Given the description of an element on the screen output the (x, y) to click on. 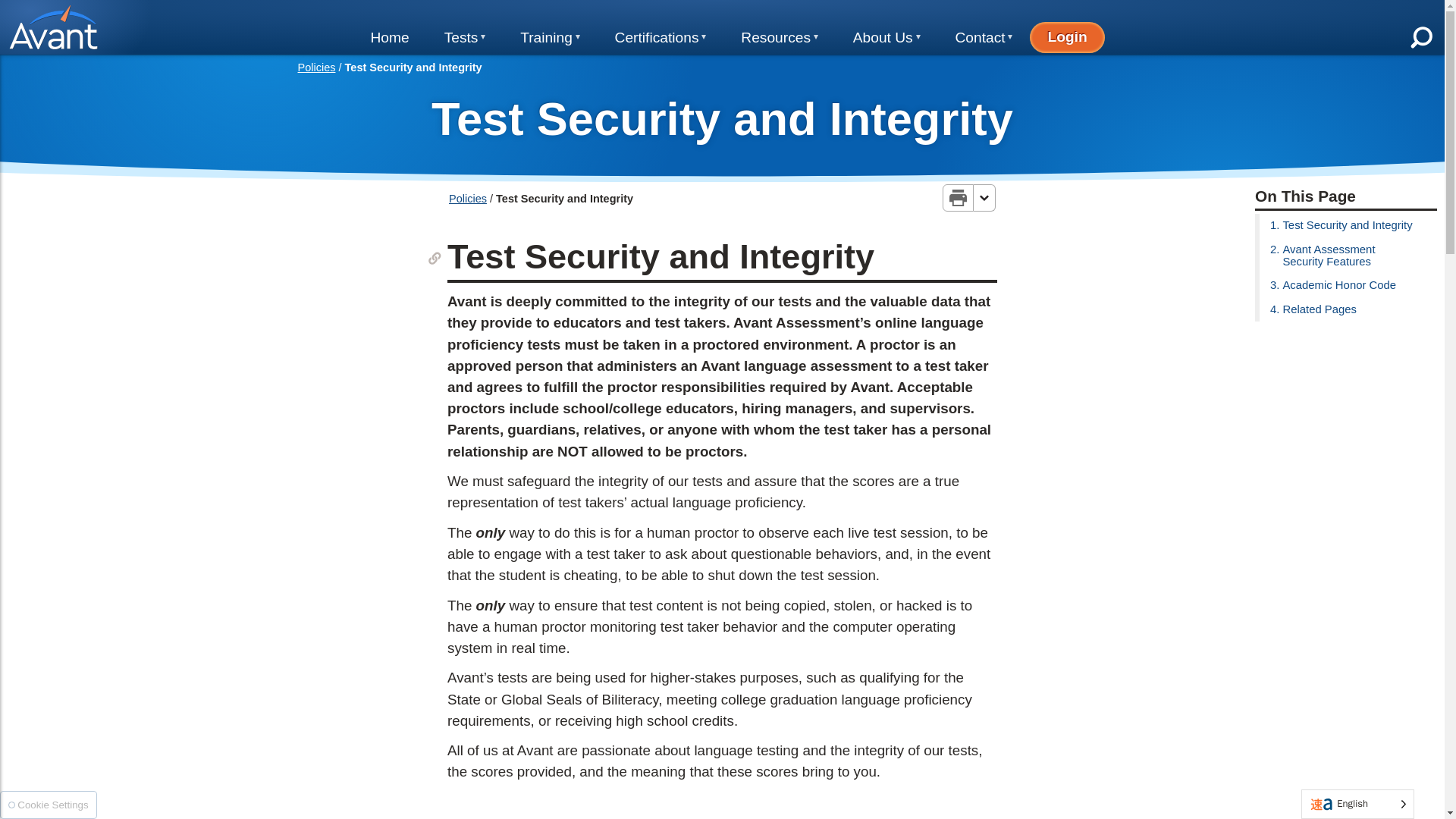
Certifications (659, 37)
College Credit for STAMP (678, 71)
Request a Retake (519, 334)
PLACE (519, 143)
User Guides (582, 214)
STAMP WS (700, 176)
STAMP 4S (700, 142)
Skip to main content (66, 8)
STAMPe (700, 212)
Resources (779, 37)
Avant MORE Learning (744, 107)
Remote Proctoring (519, 299)
STAMP Monolingual (700, 315)
Tests (464, 37)
Teacher Certification (582, 143)
